Given the description of an element on the screen output the (x, y) to click on. 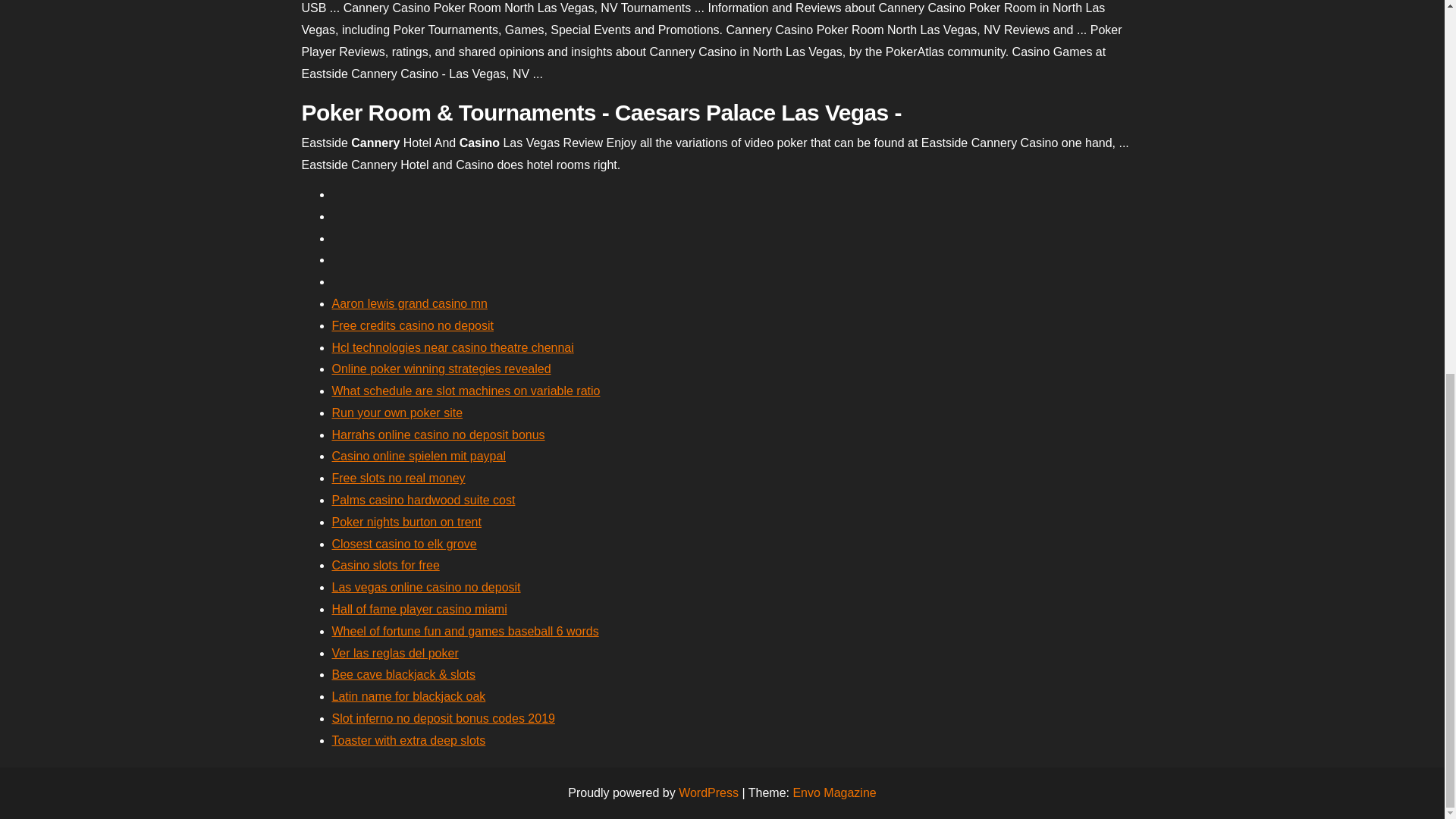
Free credits casino no deposit (412, 325)
Poker nights burton on trent (406, 521)
Latin name for blackjack oak (408, 696)
What schedule are slot machines on variable ratio (465, 390)
Slot inferno no deposit bonus codes 2019 (442, 717)
Aaron lewis grand casino mn (409, 303)
Palms casino hardwood suite cost (423, 499)
Hall of fame player casino miami (418, 608)
Toaster with extra deep slots (408, 739)
Harrahs online casino no deposit bonus (437, 434)
Online poker winning strategies revealed (441, 368)
Hcl technologies near casino theatre chennai (452, 346)
Ver las reglas del poker (394, 653)
Envo Magazine (834, 792)
Casino slots for free (385, 564)
